Given the description of an element on the screen output the (x, y) to click on. 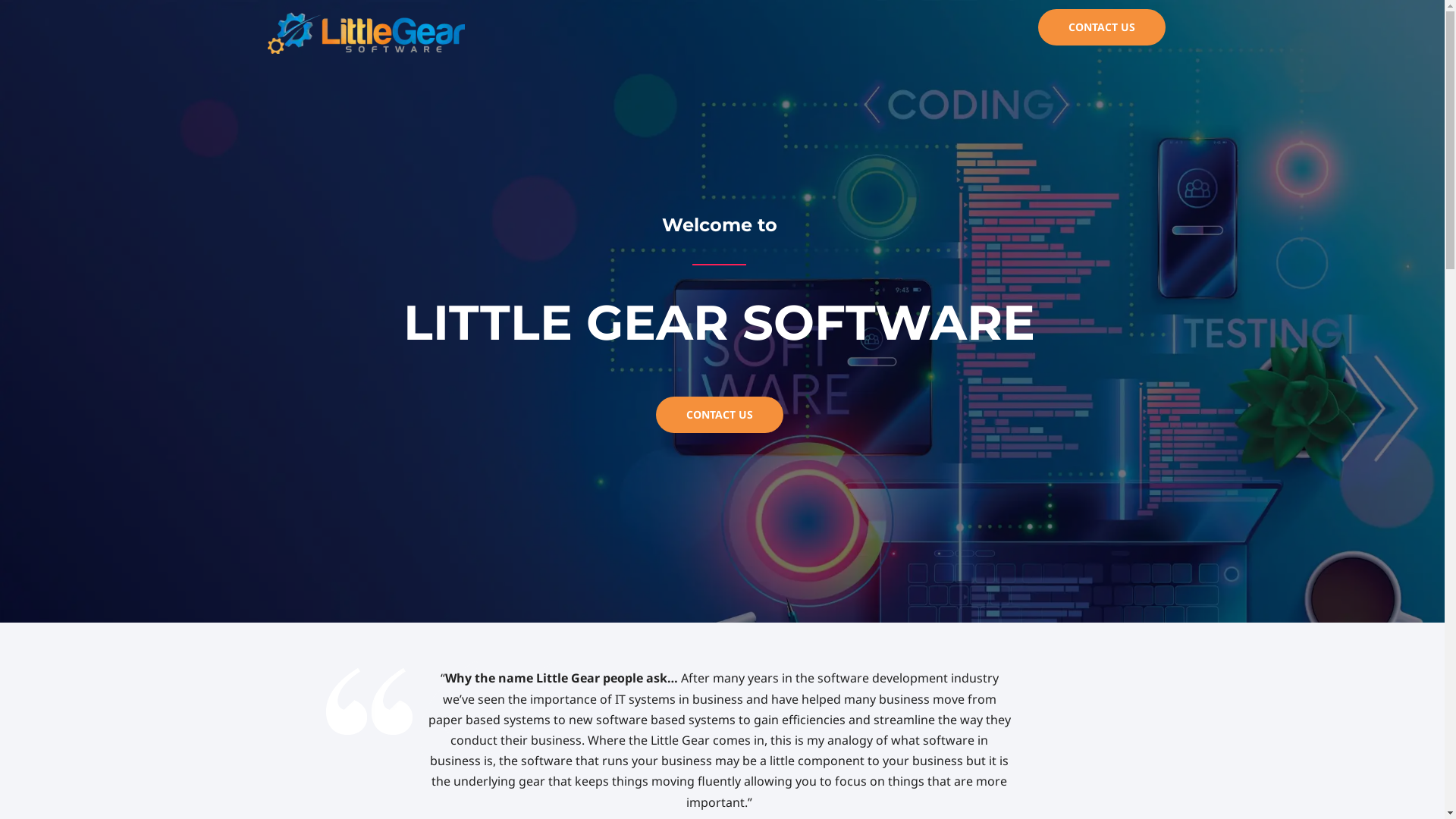
CONTACT US Element type: text (719, 414)
CONTACT US Element type: text (1100, 27)
